Given the description of an element on the screen output the (x, y) to click on. 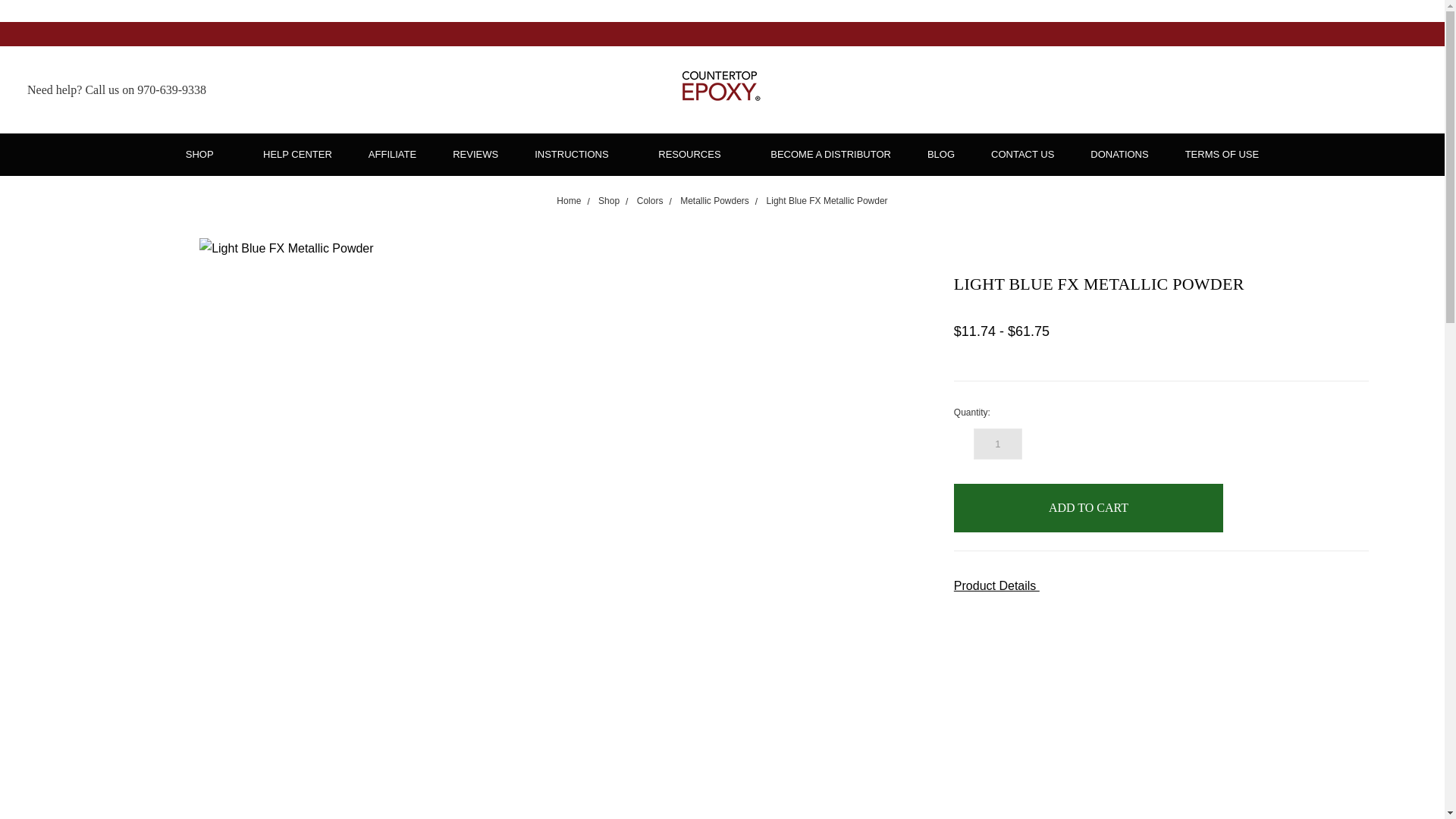
Add to Cart (1088, 508)
AFFILIATE (391, 154)
Need help? Call us on 970-639-9338 (116, 89)
INSTRUCTIONS (578, 154)
SHOP (205, 154)
Counter Top Epoxy (721, 89)
1 (998, 443)
REVIEWS (474, 154)
HELP CENTER (297, 154)
Product Details (1160, 586)
